Given the description of an element on the screen output the (x, y) to click on. 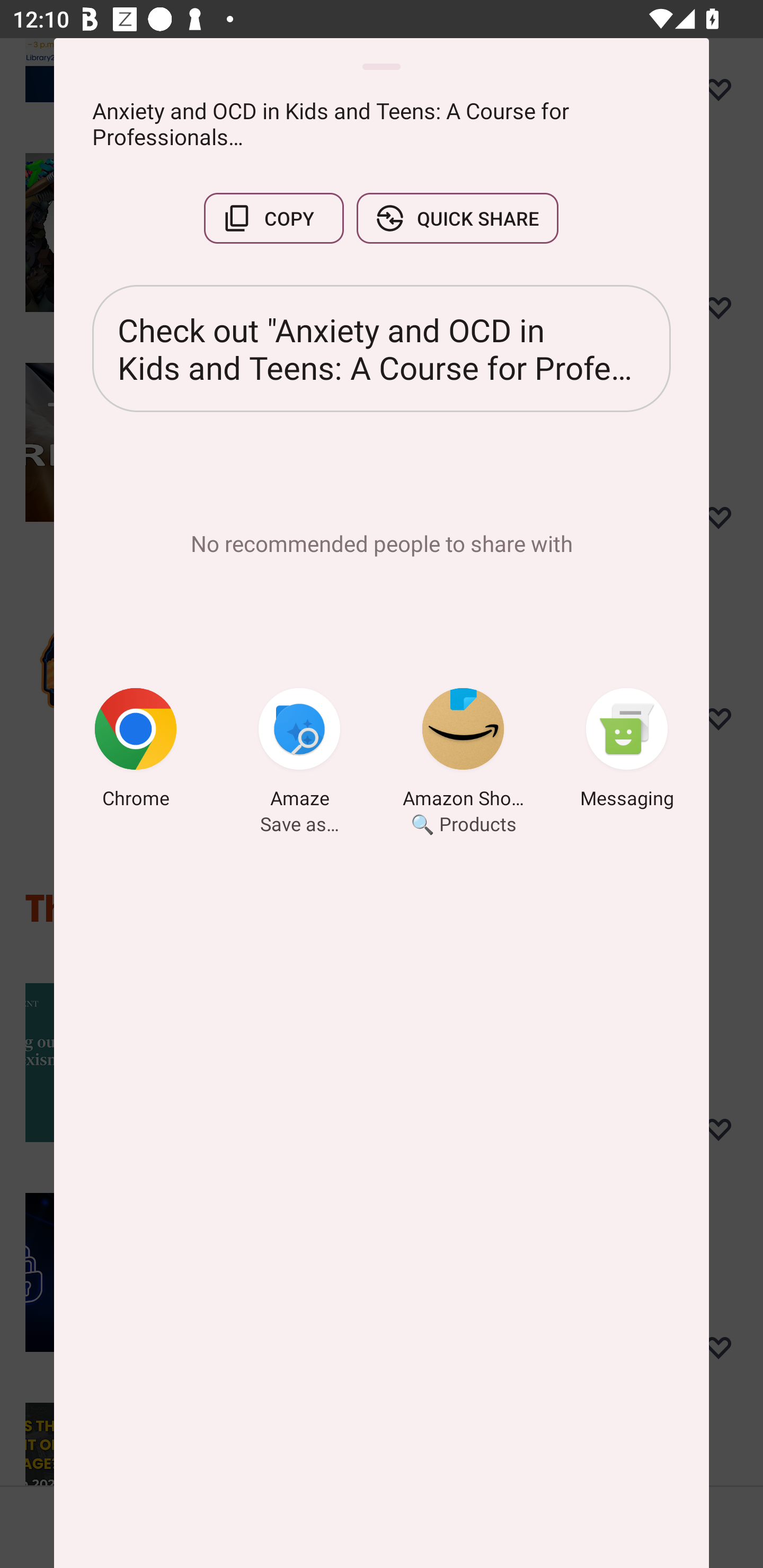
COPY (273, 218)
QUICK SHARE (457, 218)
Chrome (135, 751)
Amaze Save as… (299, 751)
Amazon Shopping 🔍 Products (463, 751)
Messaging (626, 751)
